Given the description of an element on the screen output the (x, y) to click on. 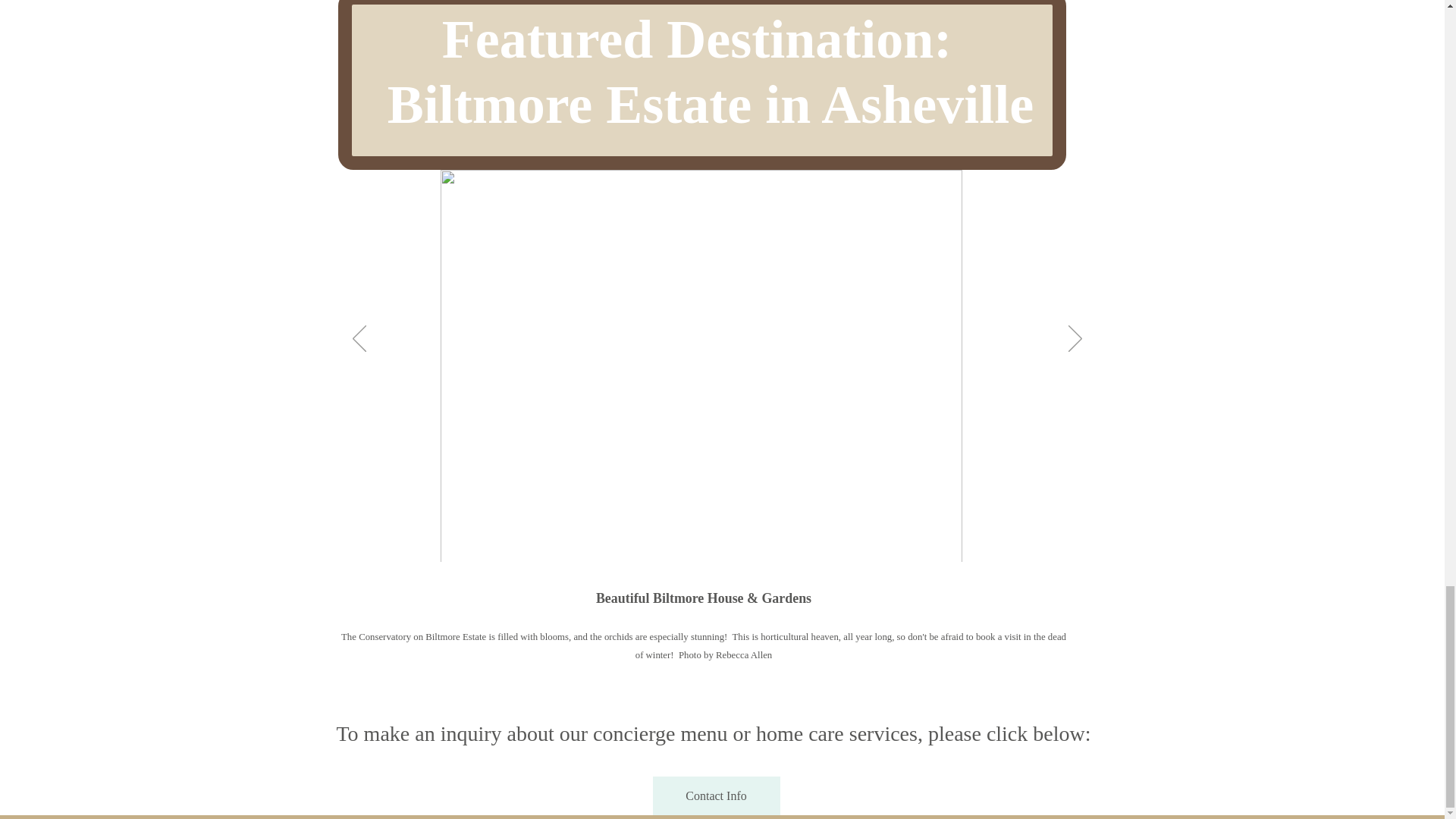
Contact Info (715, 795)
